Given the description of an element on the screen output the (x, y) to click on. 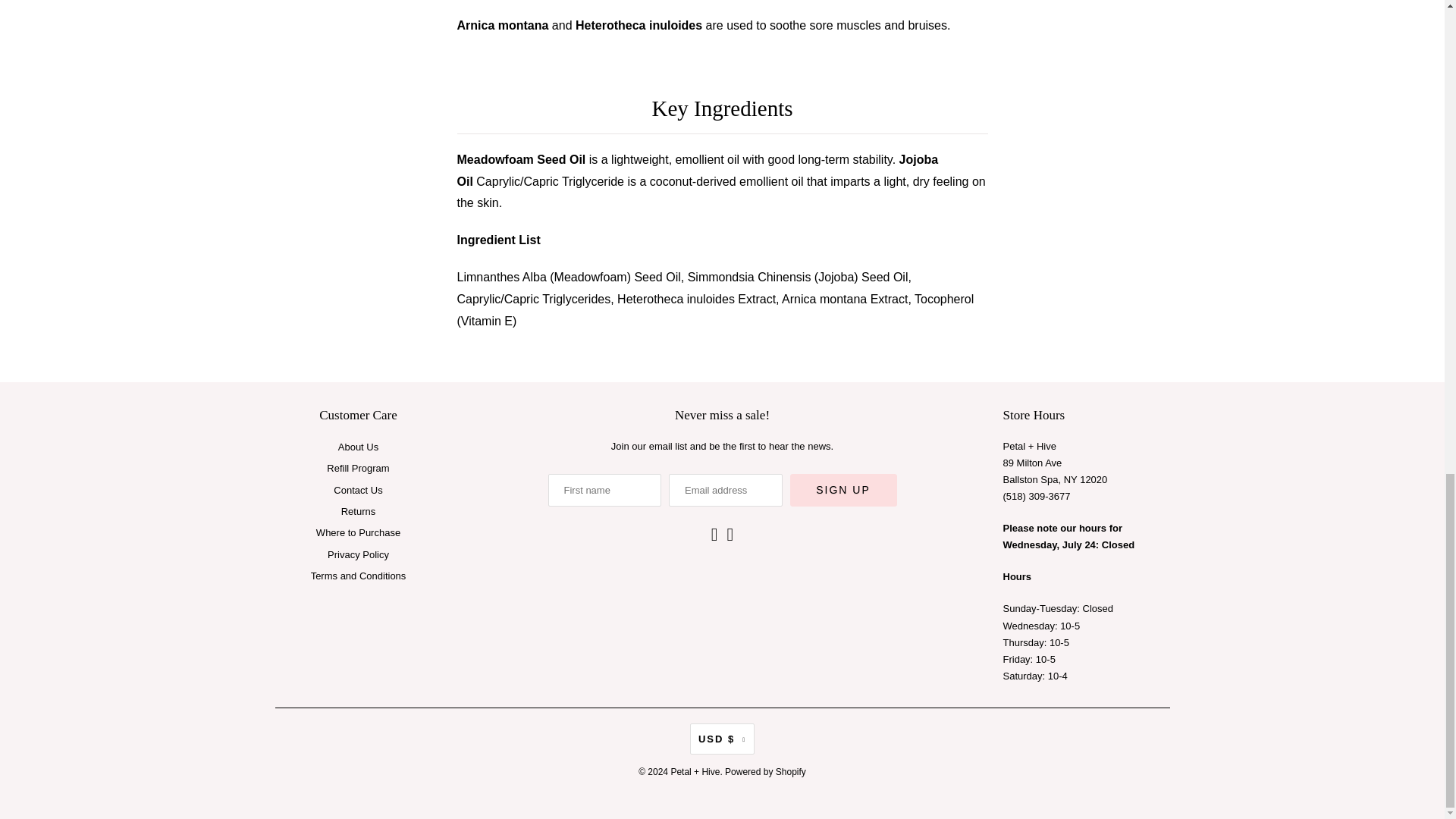
Sign Up (843, 490)
